Given the description of an element on the screen output the (x, y) to click on. 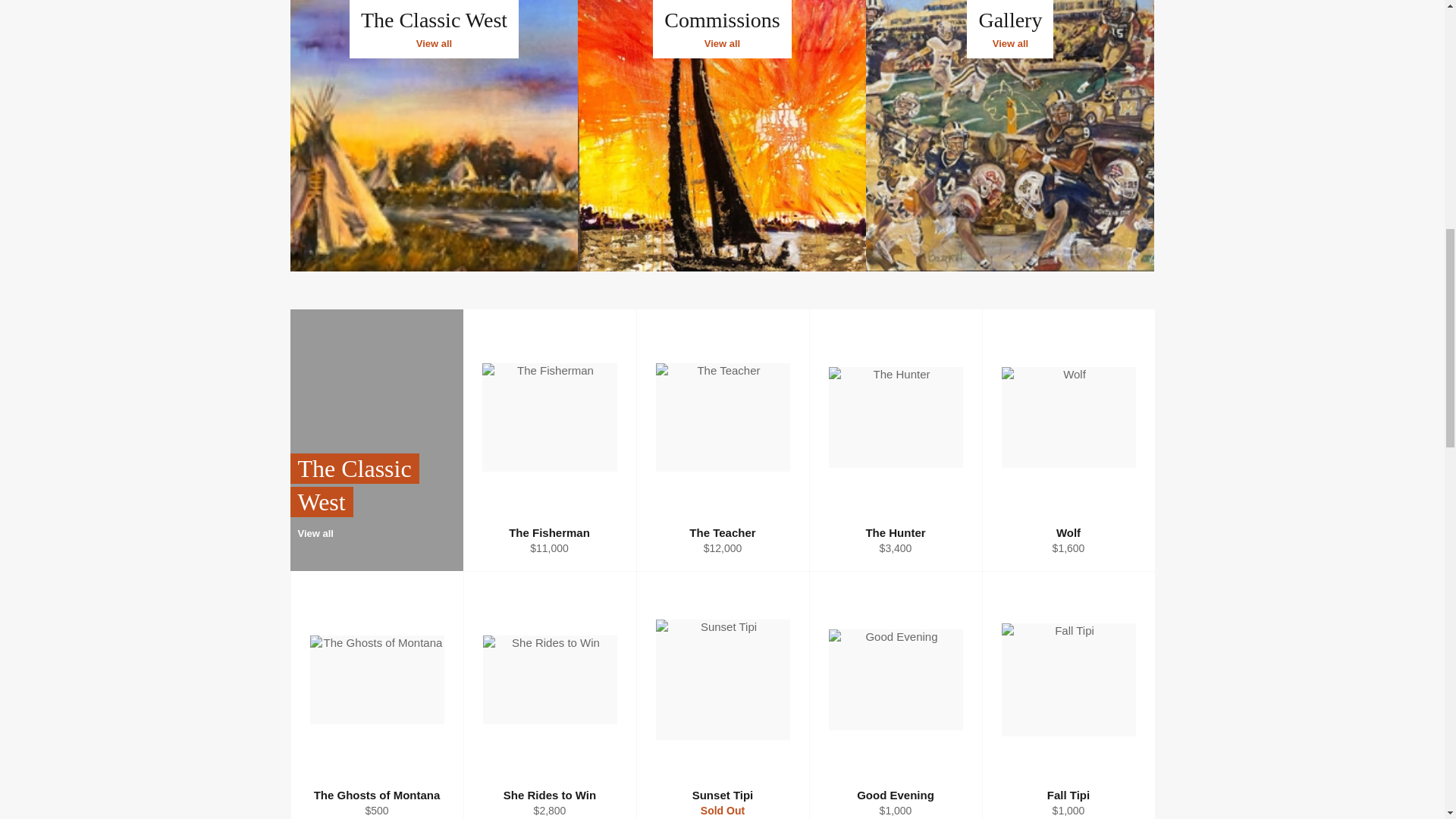
Browse our Commissions collection (722, 135)
Browse our The Classic West collection (1010, 135)
Browse our Gallery collection (433, 135)
